Given the description of an element on the screen output the (x, y) to click on. 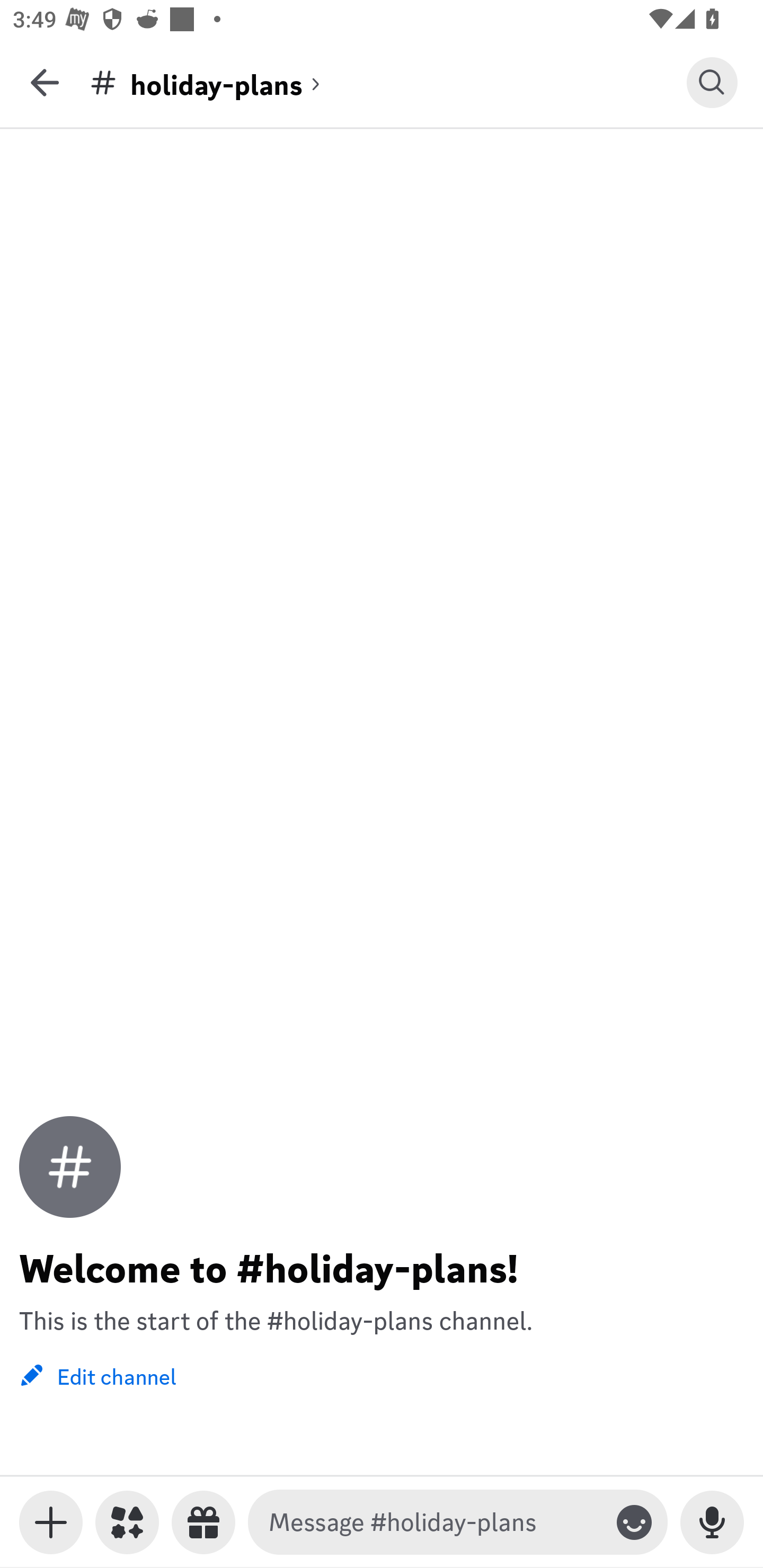
Back (44, 82)
Search (711, 82)
Edit channel (97, 1375)
Toggle media keyboard (50, 1522)
Apps (126, 1522)
Send a gift (203, 1522)
Record Voice Message (711, 1522)
Message #holiday-plans (433, 1522)
Toggle emoji keyboard (634, 1522)
